Given the description of an element on the screen output the (x, y) to click on. 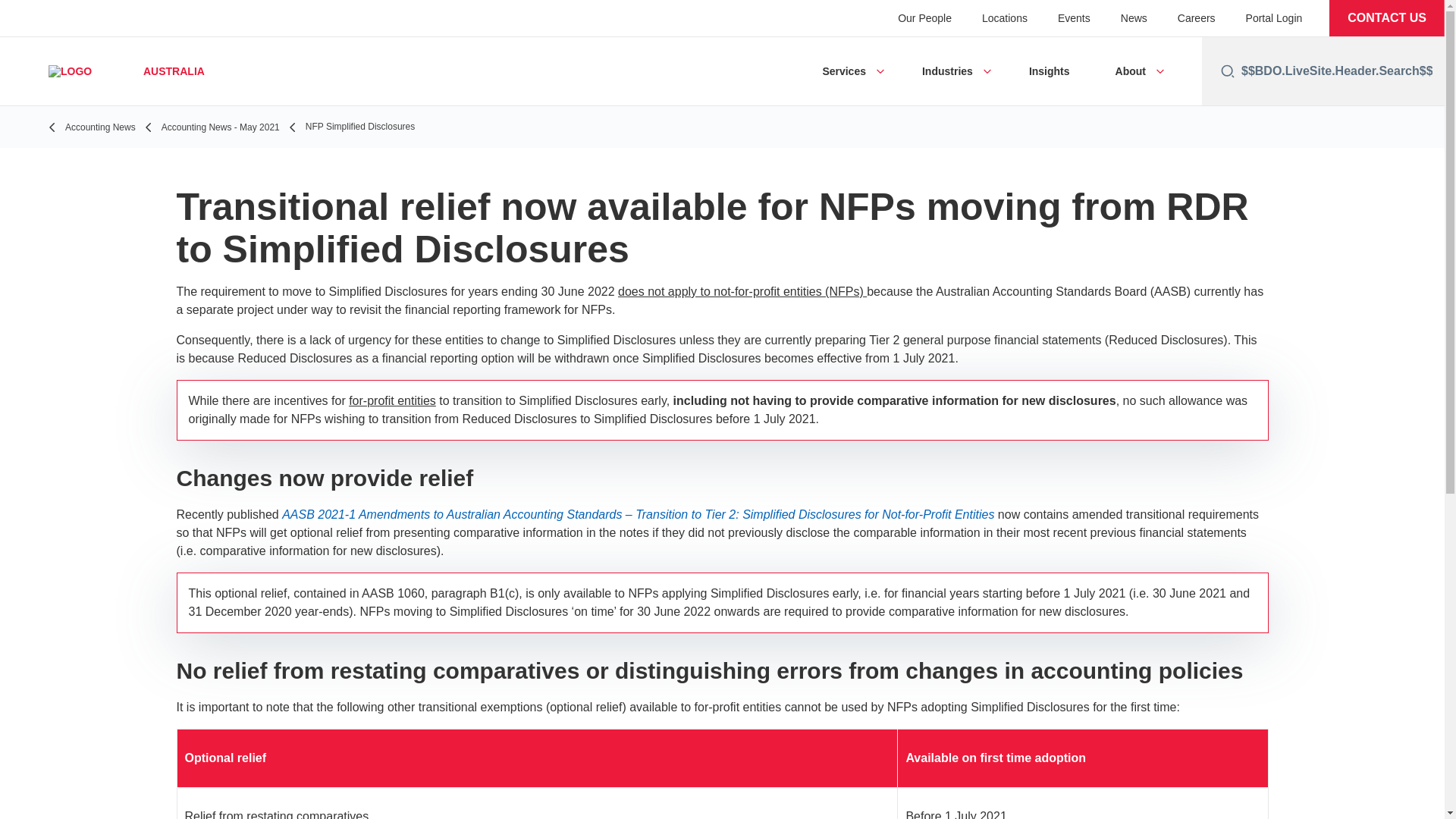
Portal Login (1274, 18)
News (1134, 18)
Careers (1196, 18)
Services (844, 71)
Locations (1004, 18)
Our People (925, 18)
Industries (946, 71)
Events (1074, 18)
AUSTRALIA (117, 70)
